Given the description of an element on the screen output the (x, y) to click on. 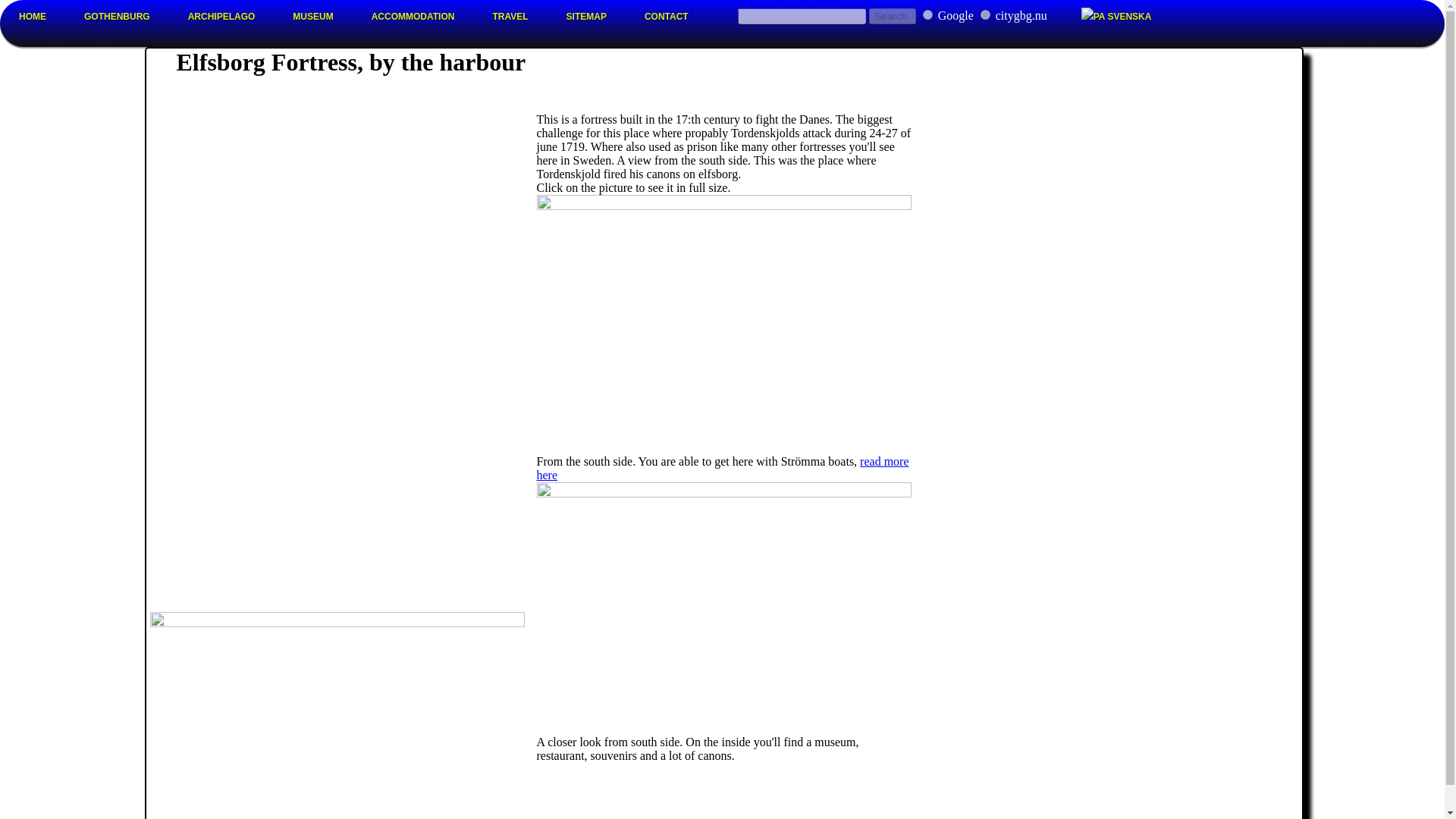
GOTHENBURG (116, 16)
TRAVEL (510, 16)
ARCHIPELAGO (221, 16)
beaches and islands (221, 16)
citygbg.nu (984, 14)
HOME (32, 16)
pa svenska (1116, 16)
MUSEUM (312, 16)
ACCOMMODATION (413, 16)
